Given the description of an element on the screen output the (x, y) to click on. 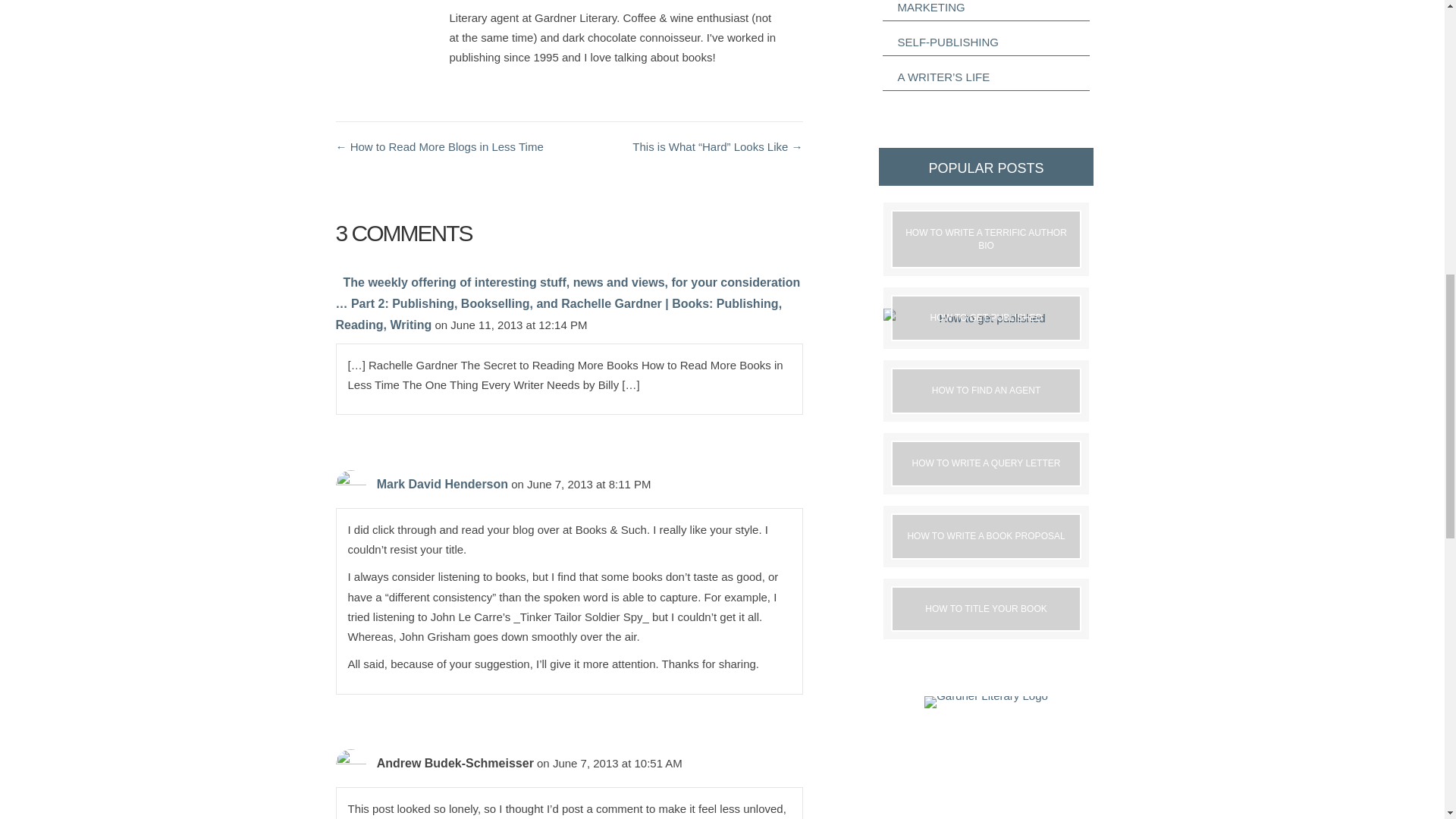
How to Write a Terrific Author Bio (986, 239)
How to Find an Agent (986, 390)
Mark David Henderson (442, 483)
How to Get Published (986, 317)
